Given the description of an element on the screen output the (x, y) to click on. 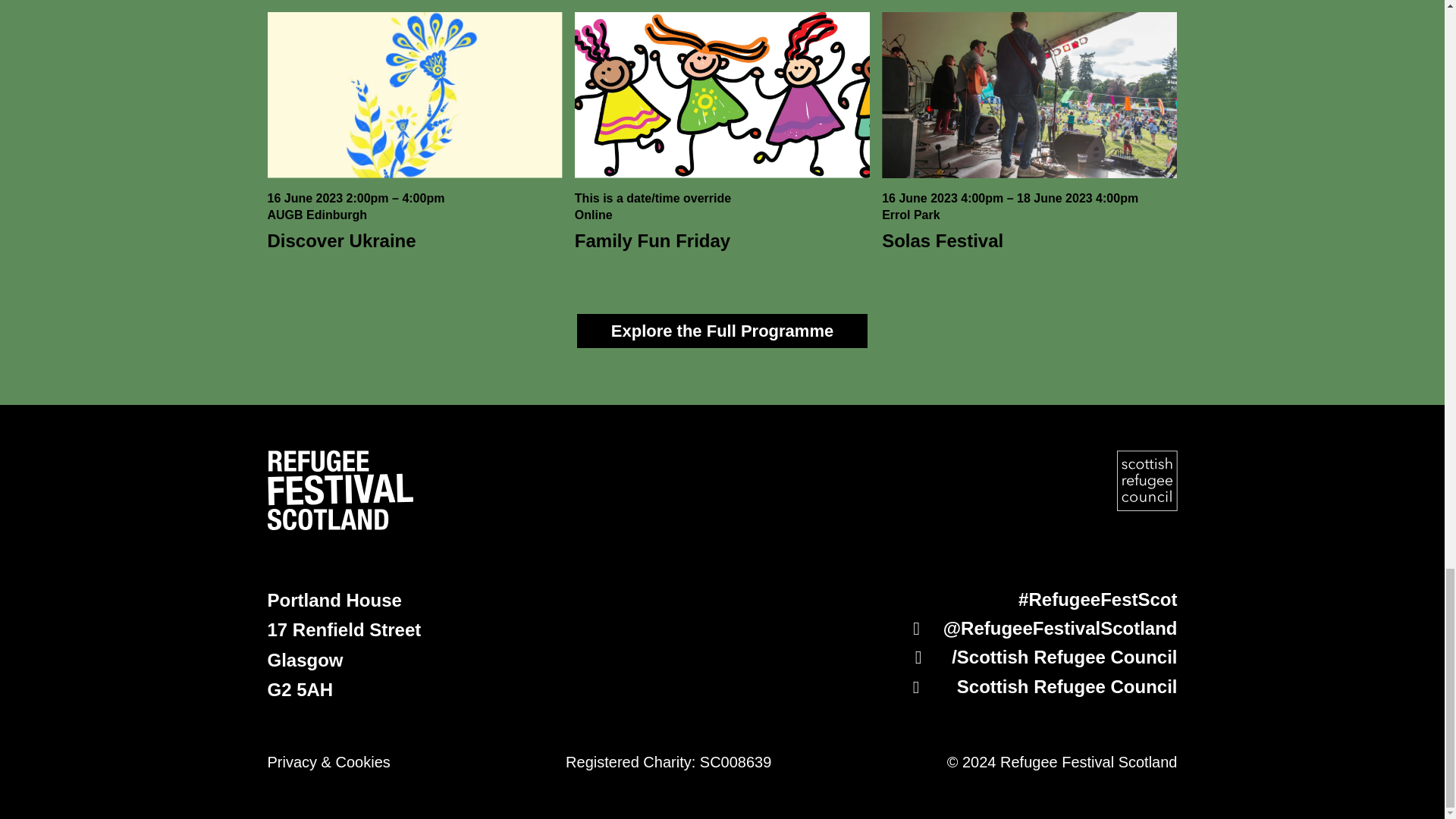
Refugee Festival Scotland on Twitter (1042, 686)
Discover Ukraine (340, 240)
Solas Festival (942, 240)
Refugee Festival Scotland on Instagram (1042, 656)
Family Fun Friday (652, 240)
Refugee Festival Scotland on Facebook (1042, 628)
Explore the Full Programme (721, 330)
